Given the description of an element on the screen output the (x, y) to click on. 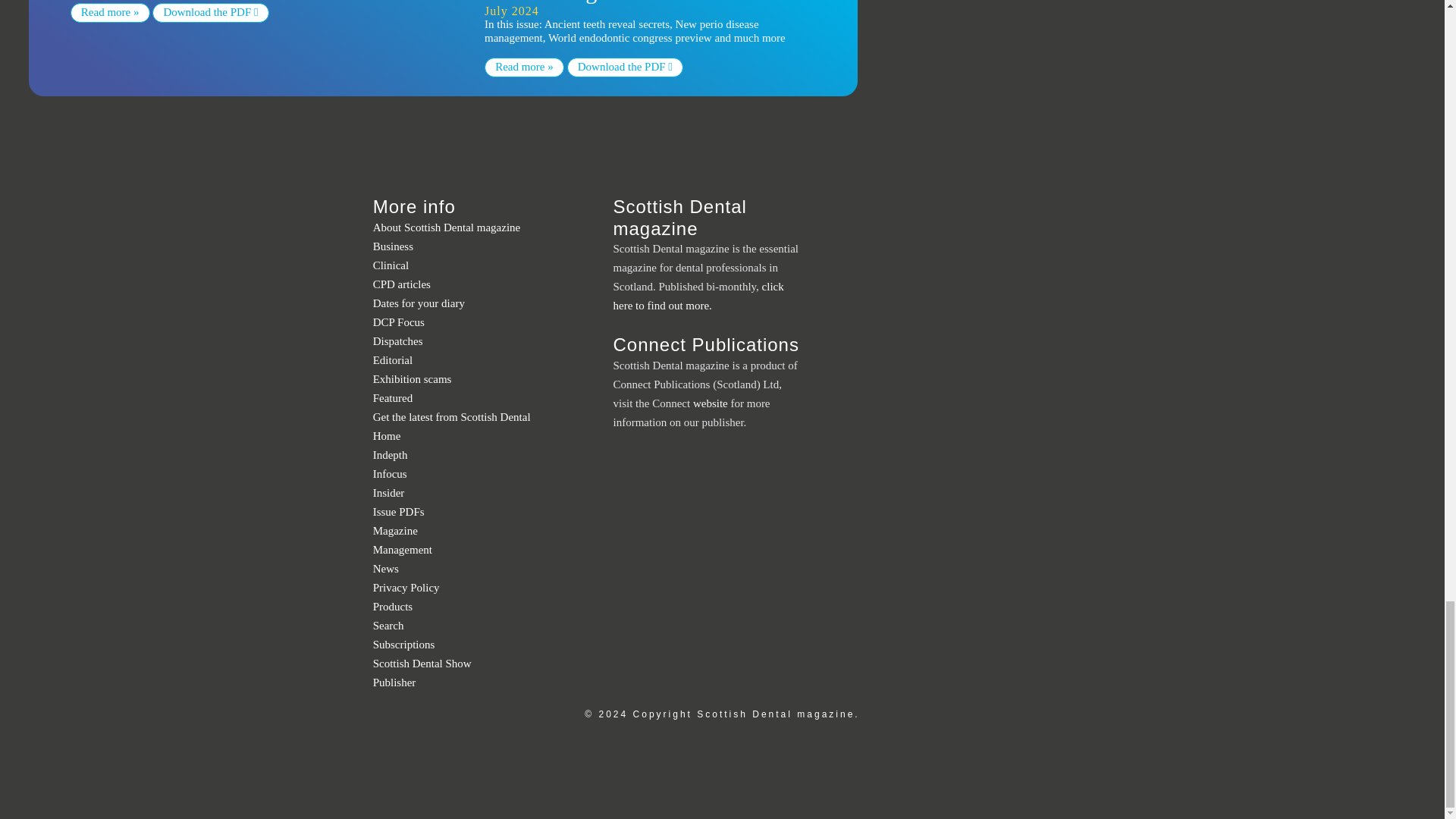
Click here to download a PDF (624, 66)
Click here to download a PDF (209, 12)
Visit the Connect website (394, 682)
Visit the Scottish Dental Show online (421, 663)
